Given the description of an element on the screen output the (x, y) to click on. 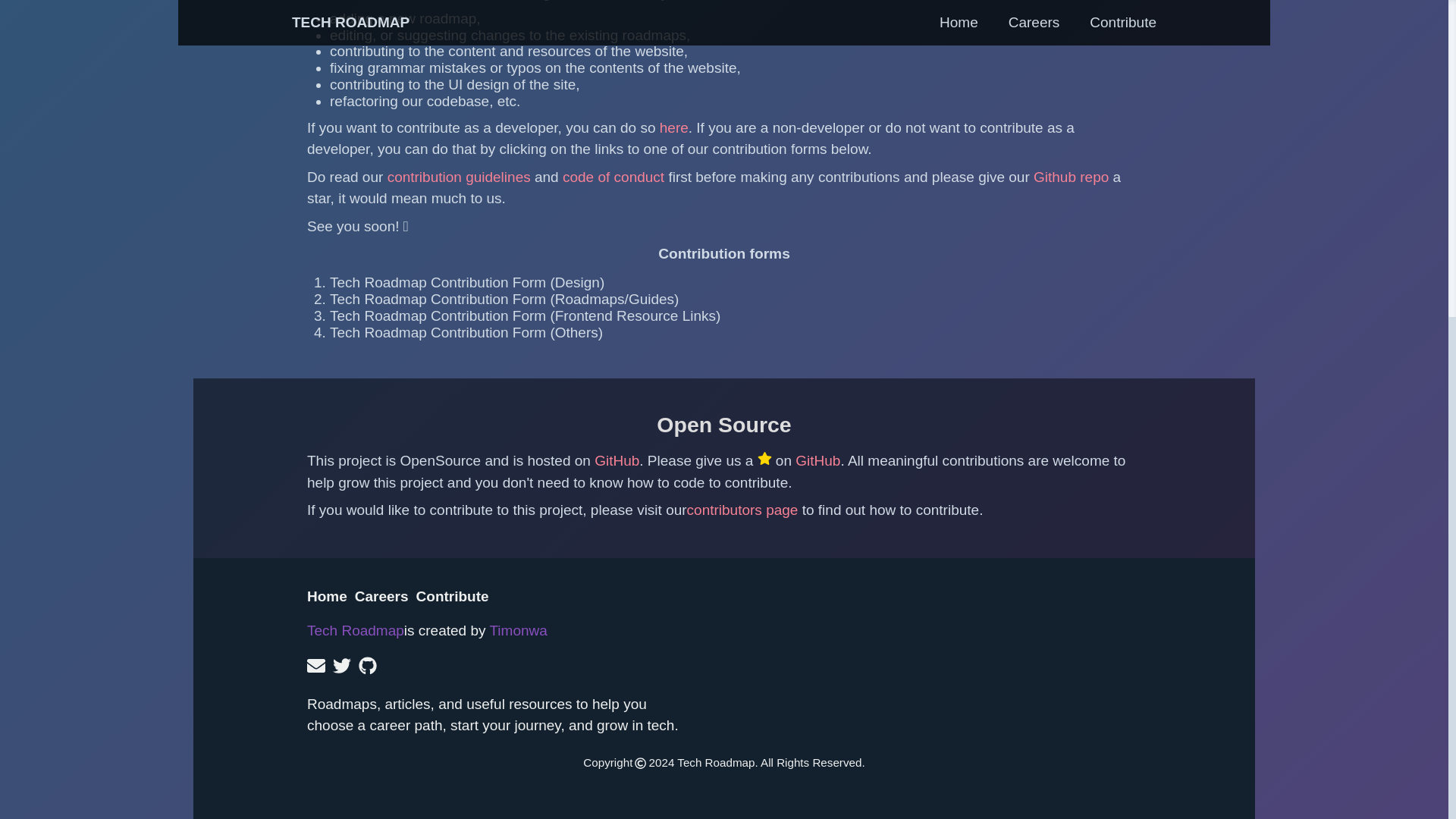
Timonwa (518, 630)
contributors page (742, 509)
Contribute (452, 596)
Github repo (1073, 176)
Home (327, 596)
Tech Roadmap (355, 630)
GitHub (616, 460)
code of conduct (612, 176)
GitHub (817, 460)
Careers (382, 596)
contribution guidelines (460, 176)
here (673, 127)
